Given the description of an element on the screen output the (x, y) to click on. 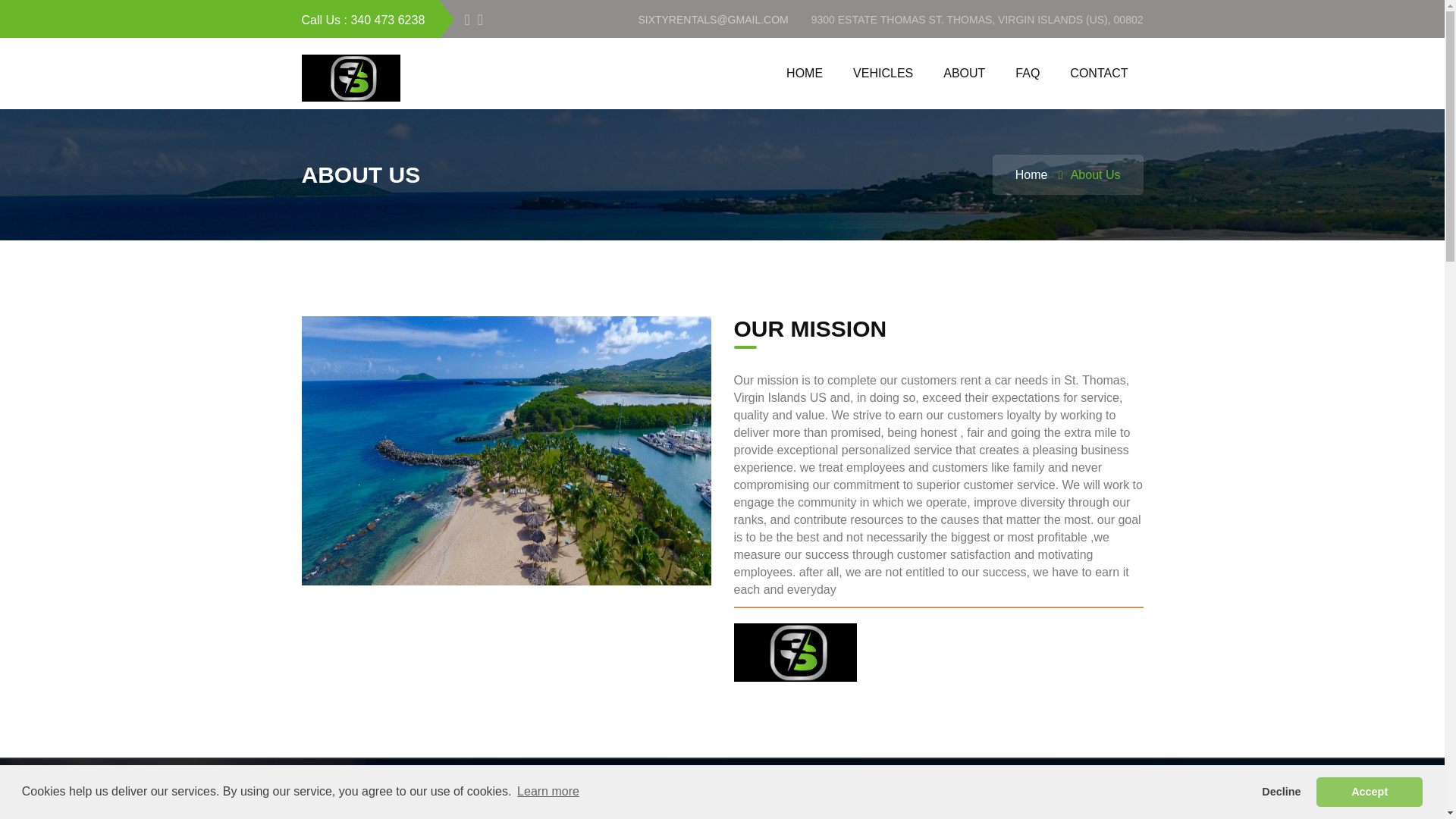
HOME (804, 72)
CONTACT (1098, 72)
Logo (350, 77)
FAQ (1027, 72)
VEHICLES (883, 72)
Accept (1369, 791)
ABOUT (964, 72)
Home (1031, 174)
Learn more (547, 791)
Decline (1281, 791)
